Given the description of an element on the screen output the (x, y) to click on. 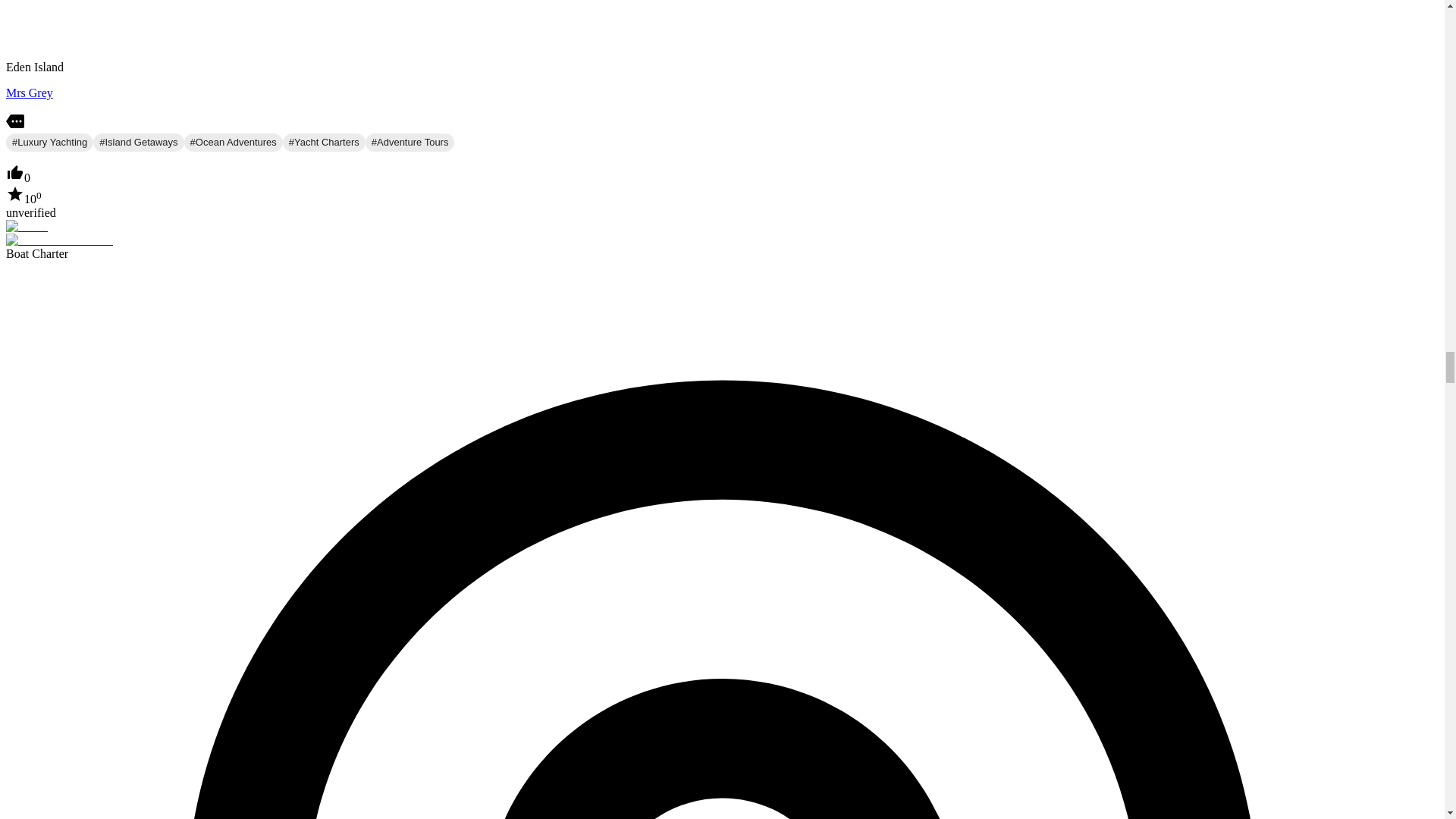
Mrs Grey Seychelles (28, 92)
